Given the description of an element on the screen output the (x, y) to click on. 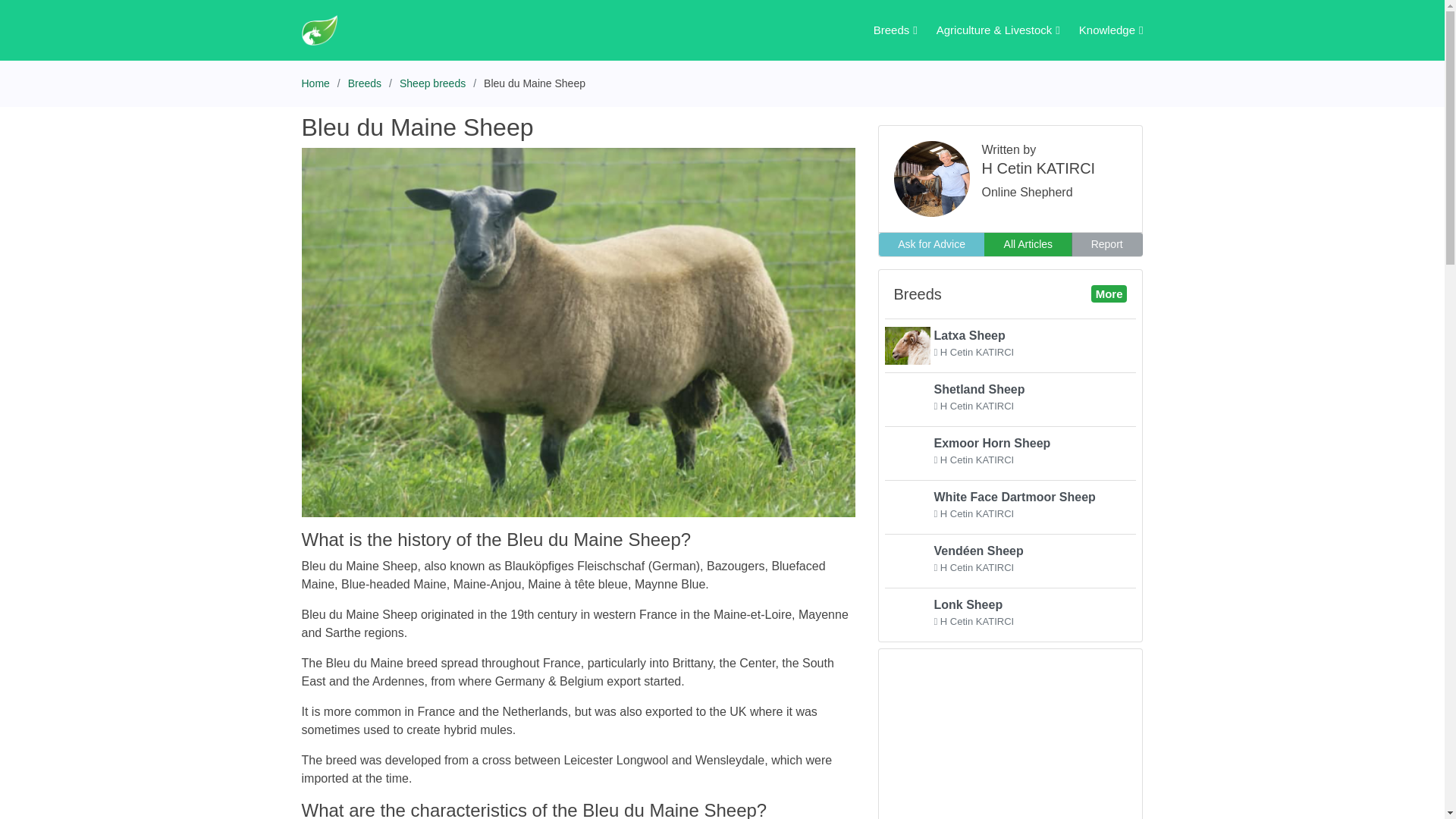
Advertisement (1009, 741)
Report (1106, 244)
Breeds (1009, 397)
Breeds (885, 30)
Ask for Advice (1009, 450)
Knowledge (364, 82)
Sheep breeds (1009, 504)
All Articles (930, 244)
Home (1100, 30)
More (431, 82)
